Given the description of an element on the screen output the (x, y) to click on. 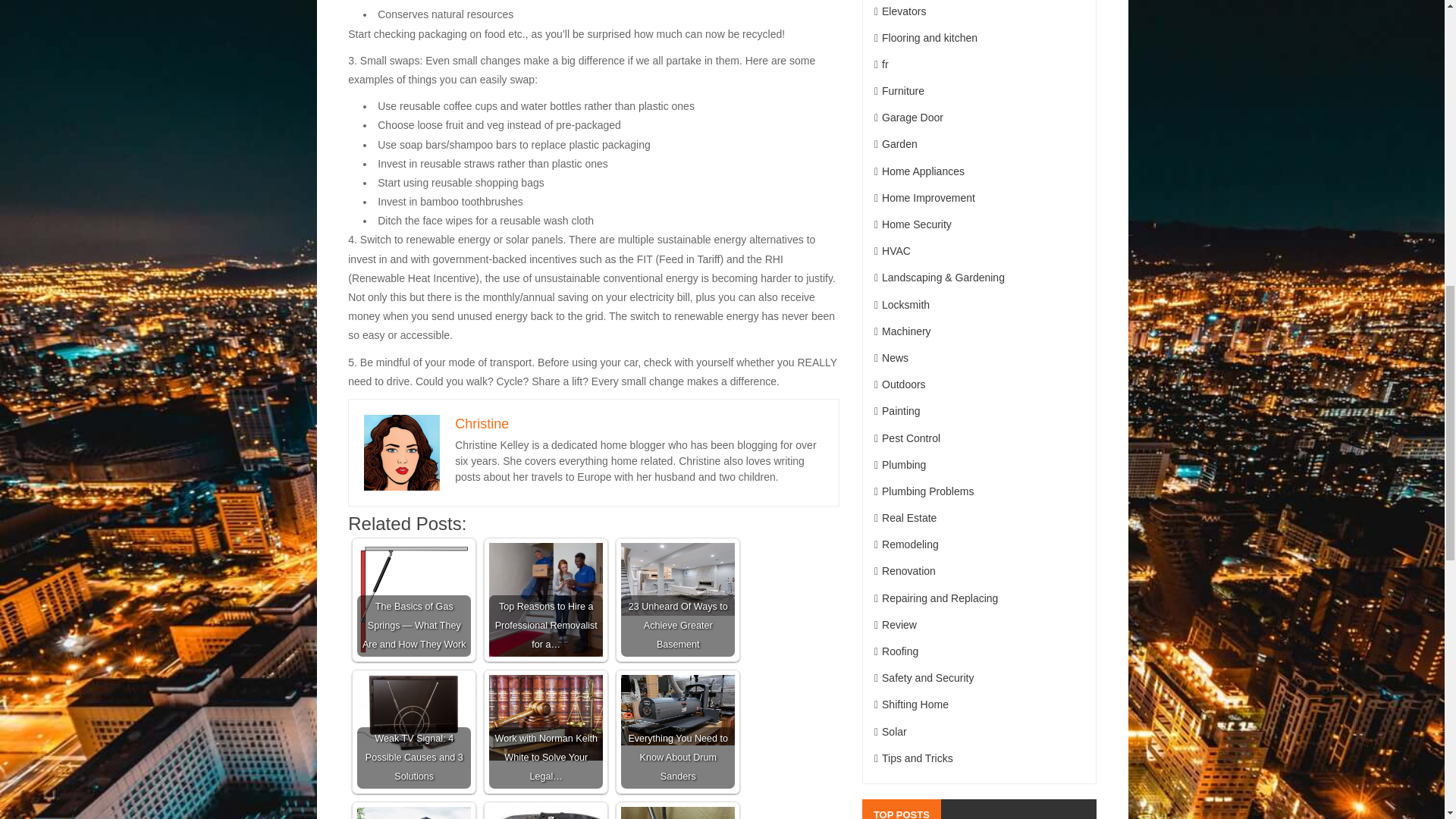
Christine (481, 423)
Weak TV Signal: 4 Possible Causes and 3 Solutions (413, 731)
23 Unheard Of Ways to Achieve Greater Basement (678, 578)
Everything You Need to Know About Drum Sanders (678, 731)
Christine Kelley (401, 452)
Benchmade Mini Barrage Review (545, 812)
Everything You Need to Know About Drum Sanders (678, 709)
Benchmade Mini Barrage Review (545, 812)
23 Unheard Of Ways to Achieve Greater Basement (678, 599)
Weak TV Signal: 4 Possible Causes and 3 Solutions (413, 712)
